Given the description of an element on the screen output the (x, y) to click on. 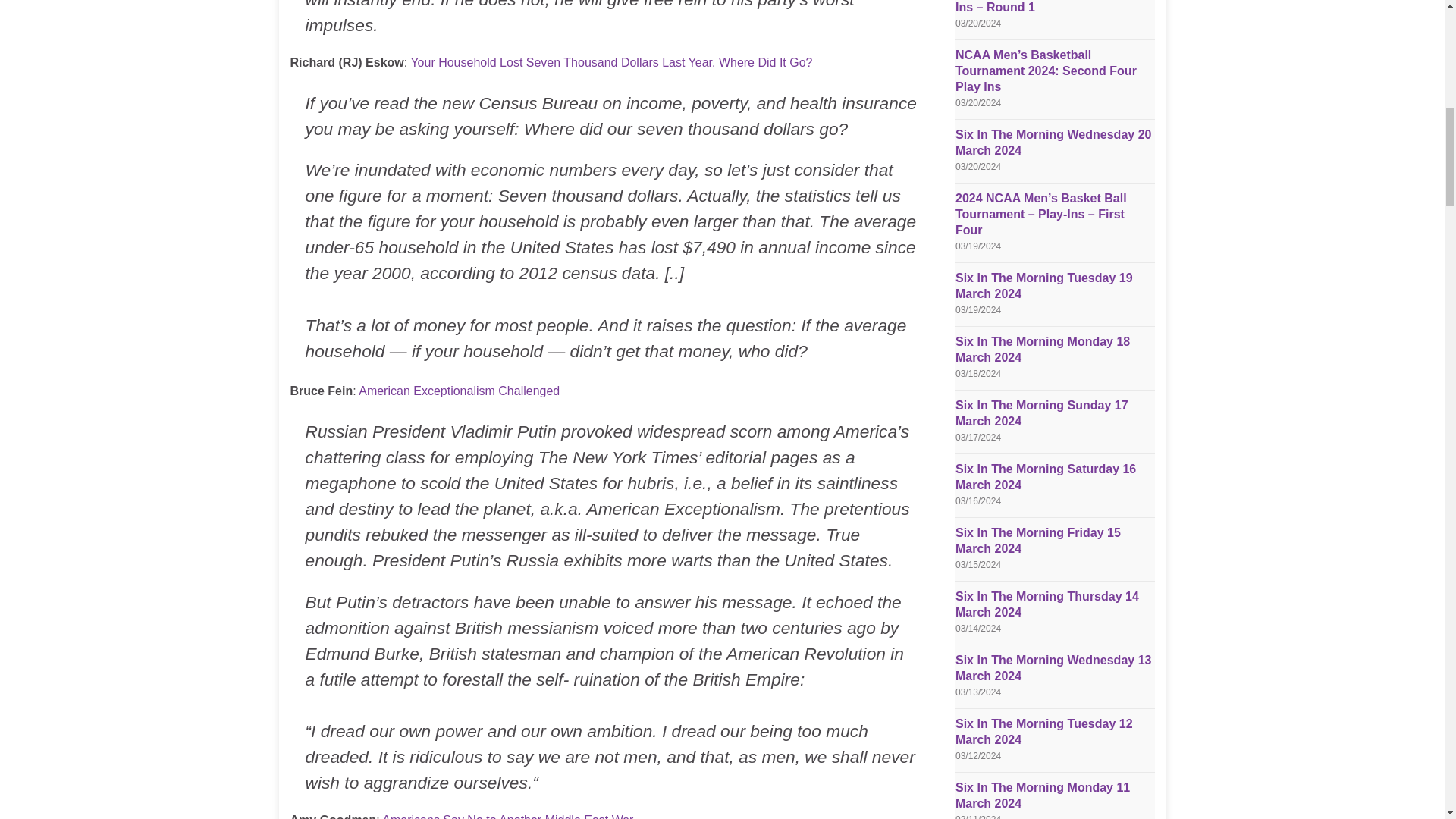
Six In The Morning Monday 18 March 2024 (1042, 348)
American Exceptionalism Challenged (458, 390)
Six In The Morning Tuesday 19 March 2024 (1043, 285)
Americans Say No to Another Middle East War (507, 816)
Six In The Morning Wednesday 20 March 2024 (1053, 142)
